Given the description of an element on the screen output the (x, y) to click on. 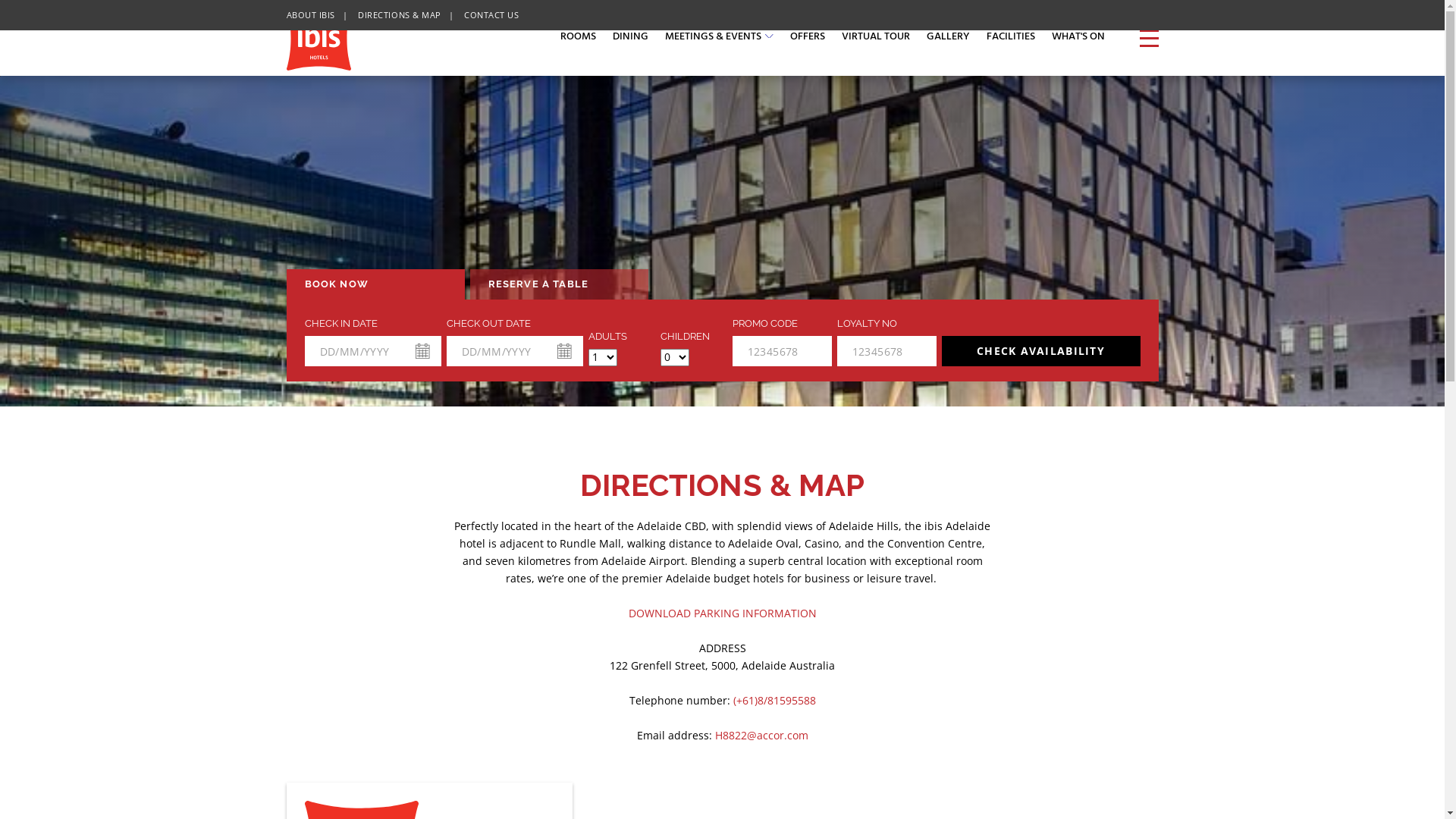
WHAT'S ON Element type: text (1077, 37)
DINING Element type: text (630, 37)
ABOUT IBIS
OPENS IN A NEW TAB. Element type: text (310, 14)
H8822@accor.com Element type: text (760, 735)
GALLERY Element type: text (947, 37)
CONTACT US Element type: text (491, 14)
DOWNLOAD PARKING INFORMATION
Opens in a new tab. Element type: text (721, 612)
CHECK AVAILABILITY Element type: text (1040, 350)
DIRECTIONS & MAP Element type: text (399, 14)
FACILITIES Element type: text (1009, 37)
VIRTUAL TOUR Element type: text (875, 37)
(+61)8/81595588 Element type: text (773, 700)
BOOK NOW Element type: text (375, 284)
RESERVE A TABLE Element type: text (559, 284)
ROOMS Element type: text (578, 37)
MEETINGS & EVENTS Element type: text (719, 37)
OFFERS Element type: text (807, 37)
